Given the description of an element on the screen output the (x, y) to click on. 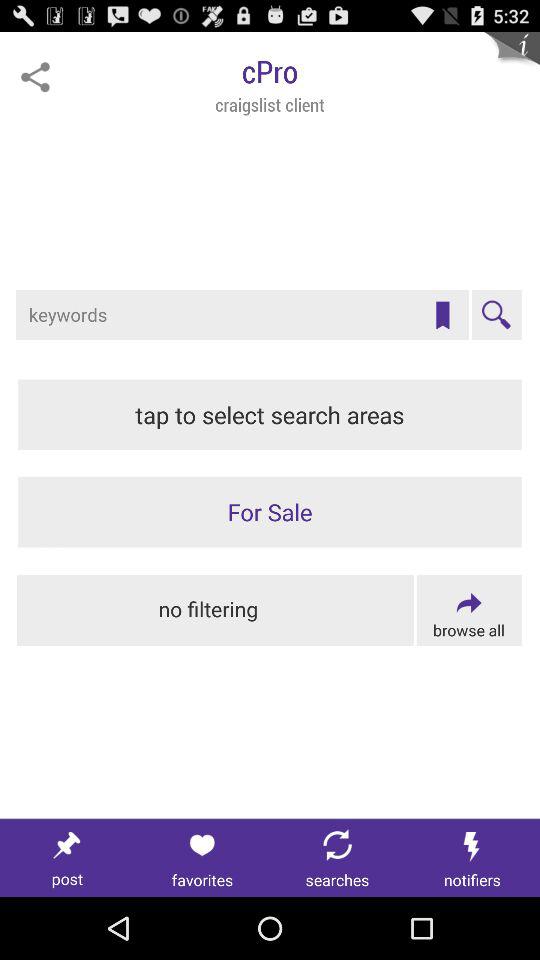
turn on item at the top left corner (35, 77)
